Given the description of an element on the screen output the (x, y) to click on. 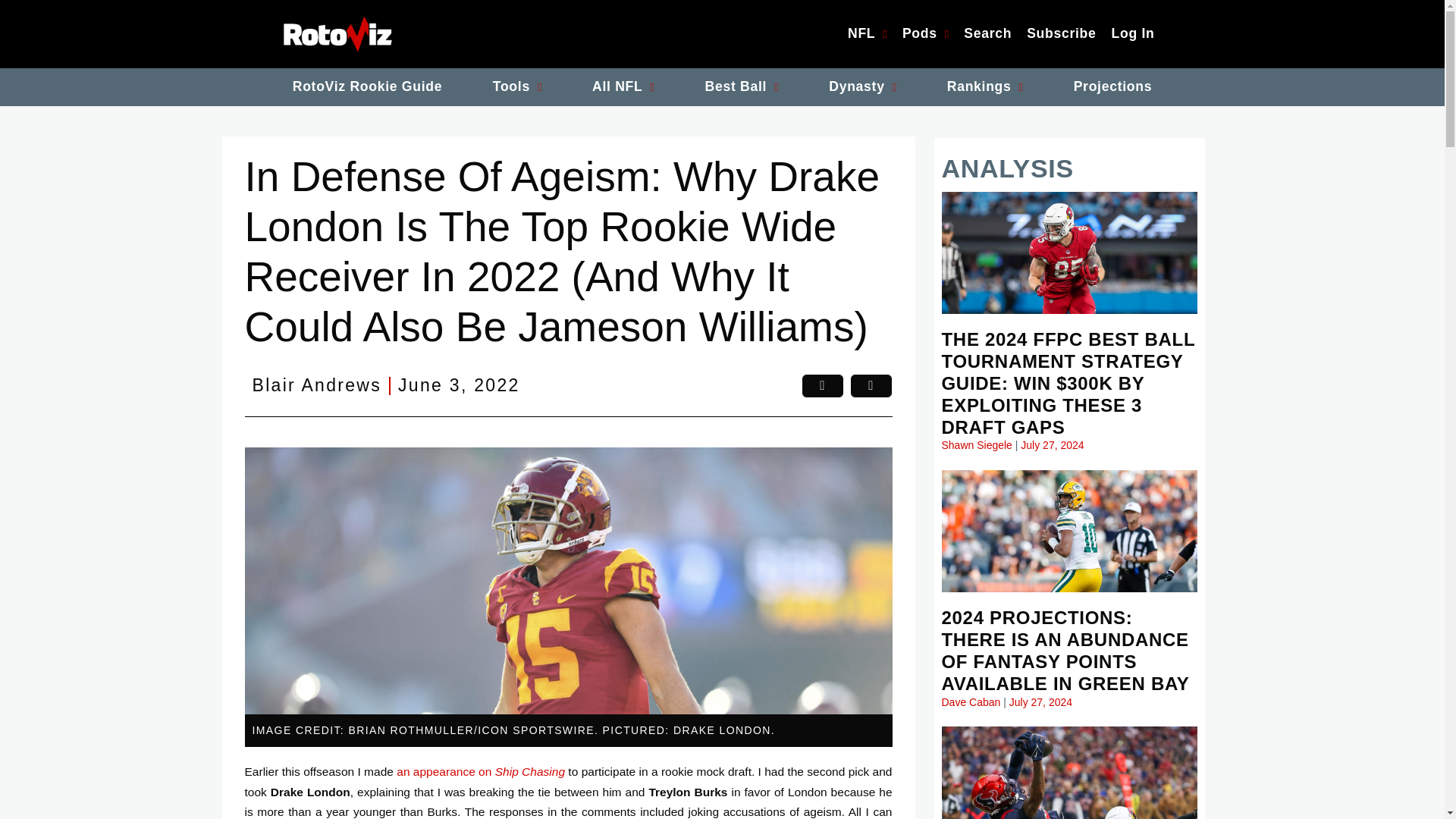
Pods (925, 34)
RotoViz (336, 33)
NFL (867, 34)
Log In (1132, 34)
Subscribe (1061, 34)
Search (987, 34)
